Given the description of an element on the screen output the (x, y) to click on. 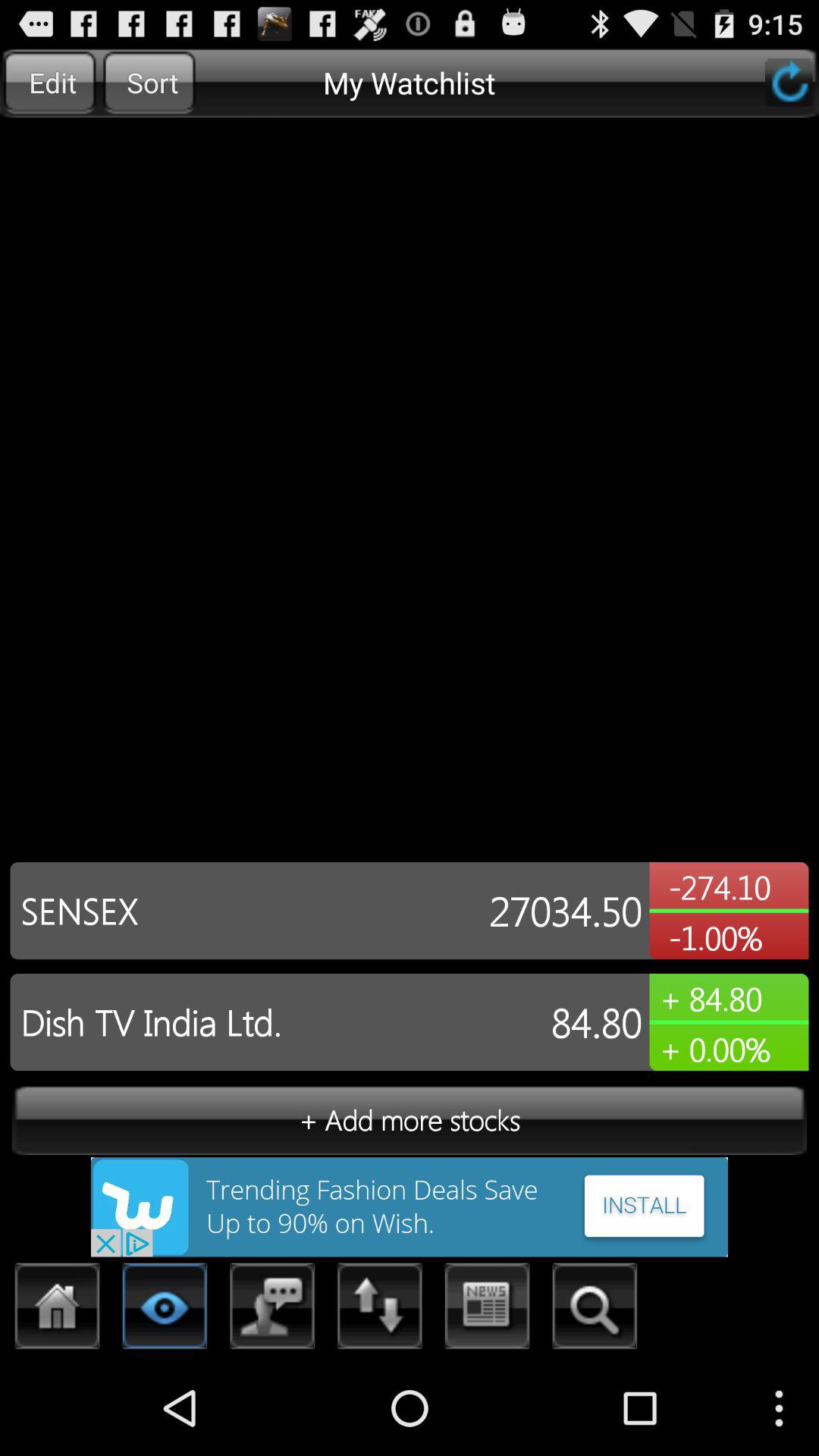
home (57, 1310)
